Given the description of an element on the screen output the (x, y) to click on. 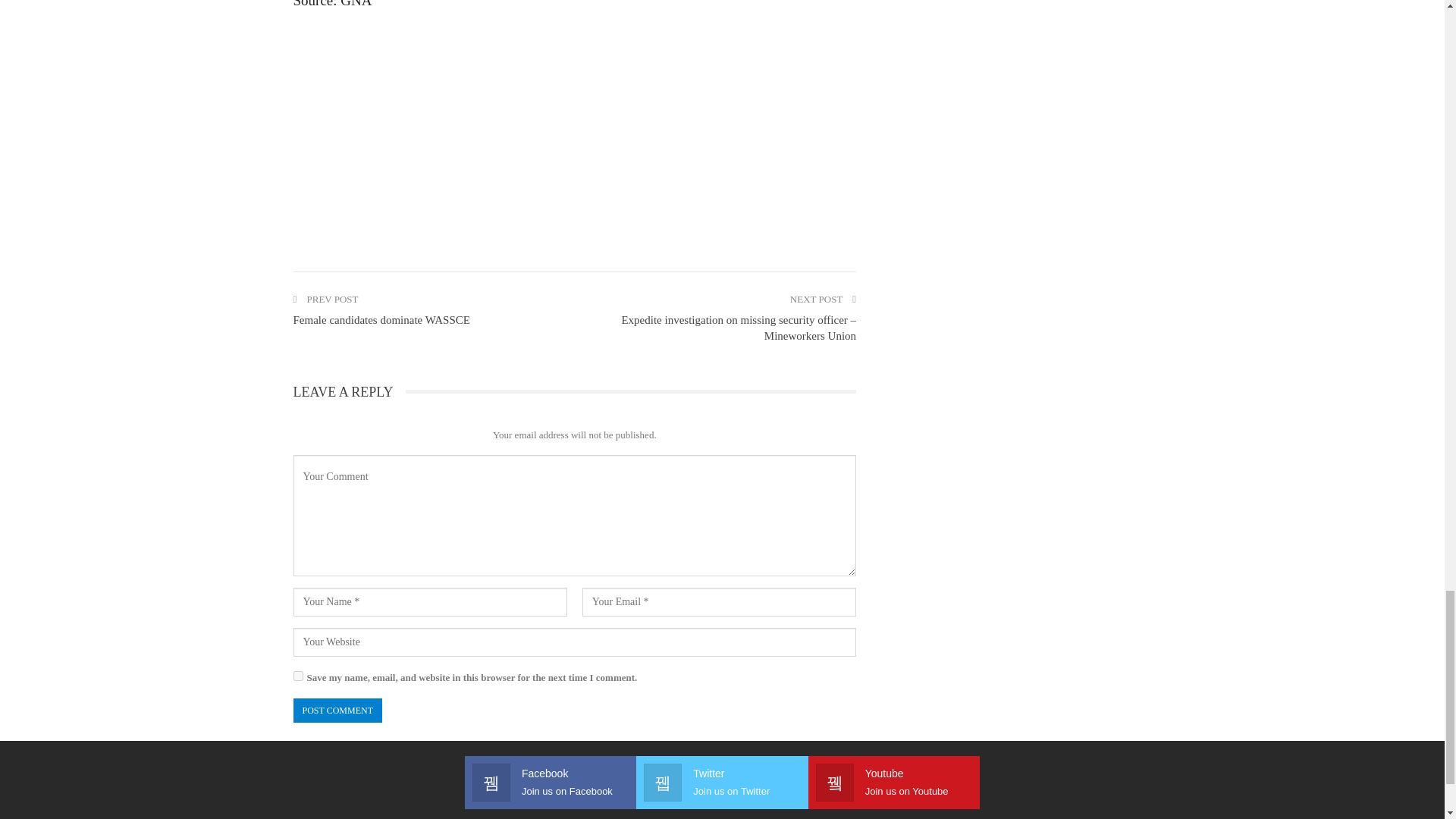
Female candidates dominate WASSCE (380, 319)
Post Comment (336, 709)
Post Comment (336, 709)
yes (297, 675)
